Given the description of an element on the screen output the (x, y) to click on. 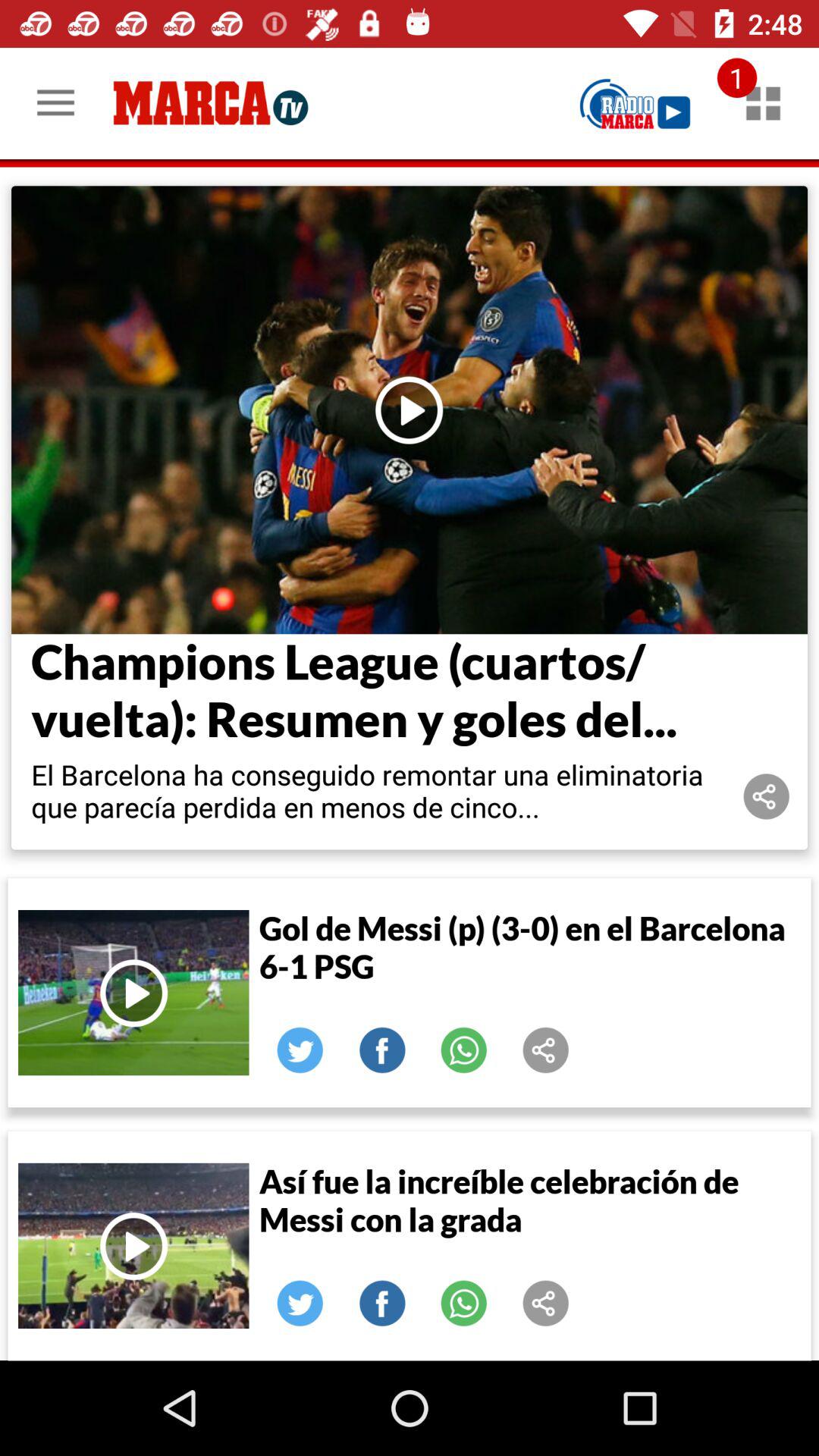
share on whatsapp (464, 1050)
